Given the description of an element on the screen output the (x, y) to click on. 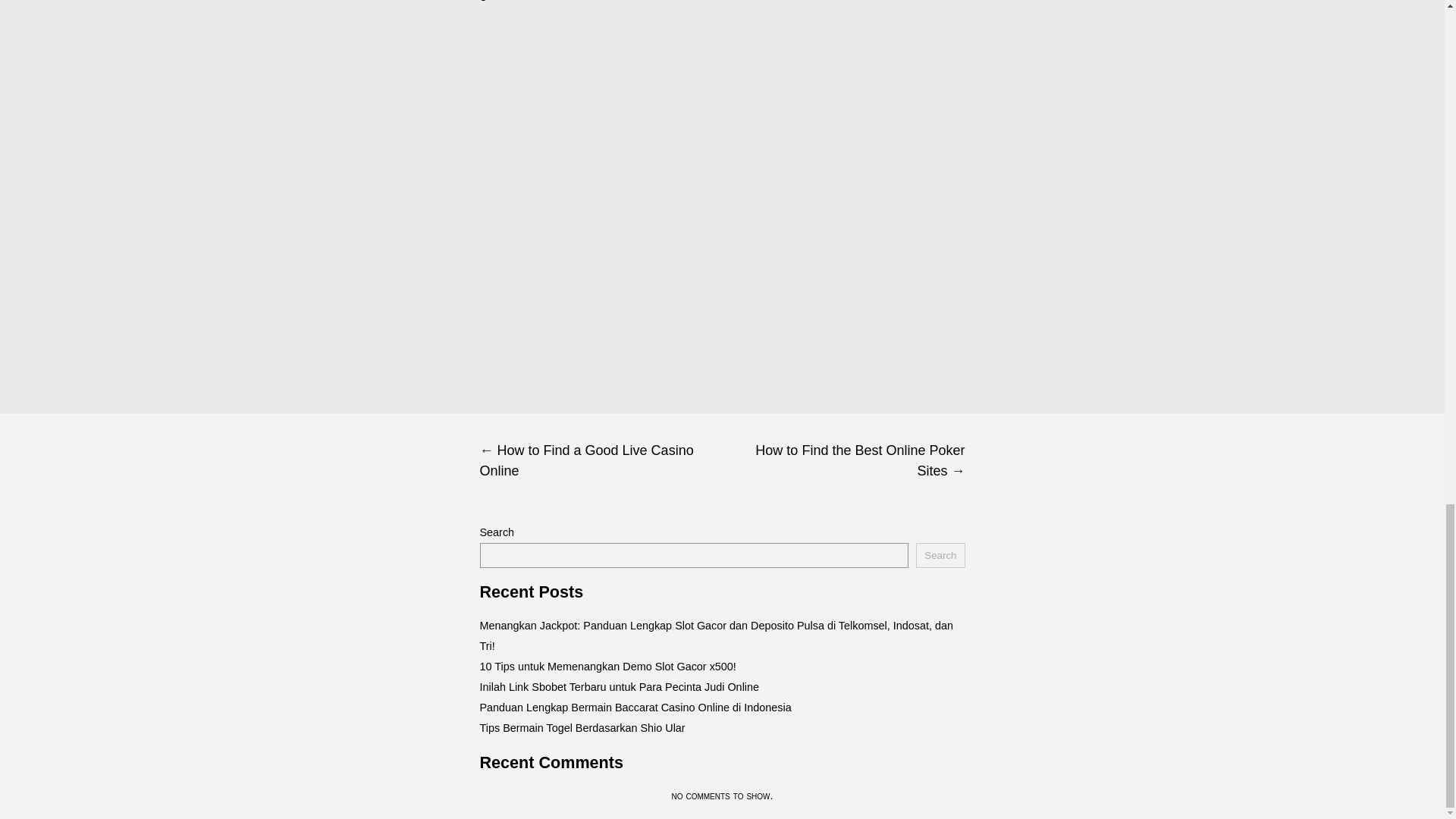
How to Find the Best Online Poker Sites (842, 460)
Tips Bermain Togel Berdasarkan Shio Ular (581, 727)
10 Tips untuk Memenangkan Demo Slot Gacor x500! (607, 666)
Panduan Lengkap Bermain Baccarat Casino Online di Indonesia (634, 707)
Search (939, 555)
How to Find a Good Live Casino Online (600, 460)
Inilah Link Sbobet Terbaru untuk Para Pecinta Judi Online (618, 686)
